Given the description of an element on the screen output the (x, y) to click on. 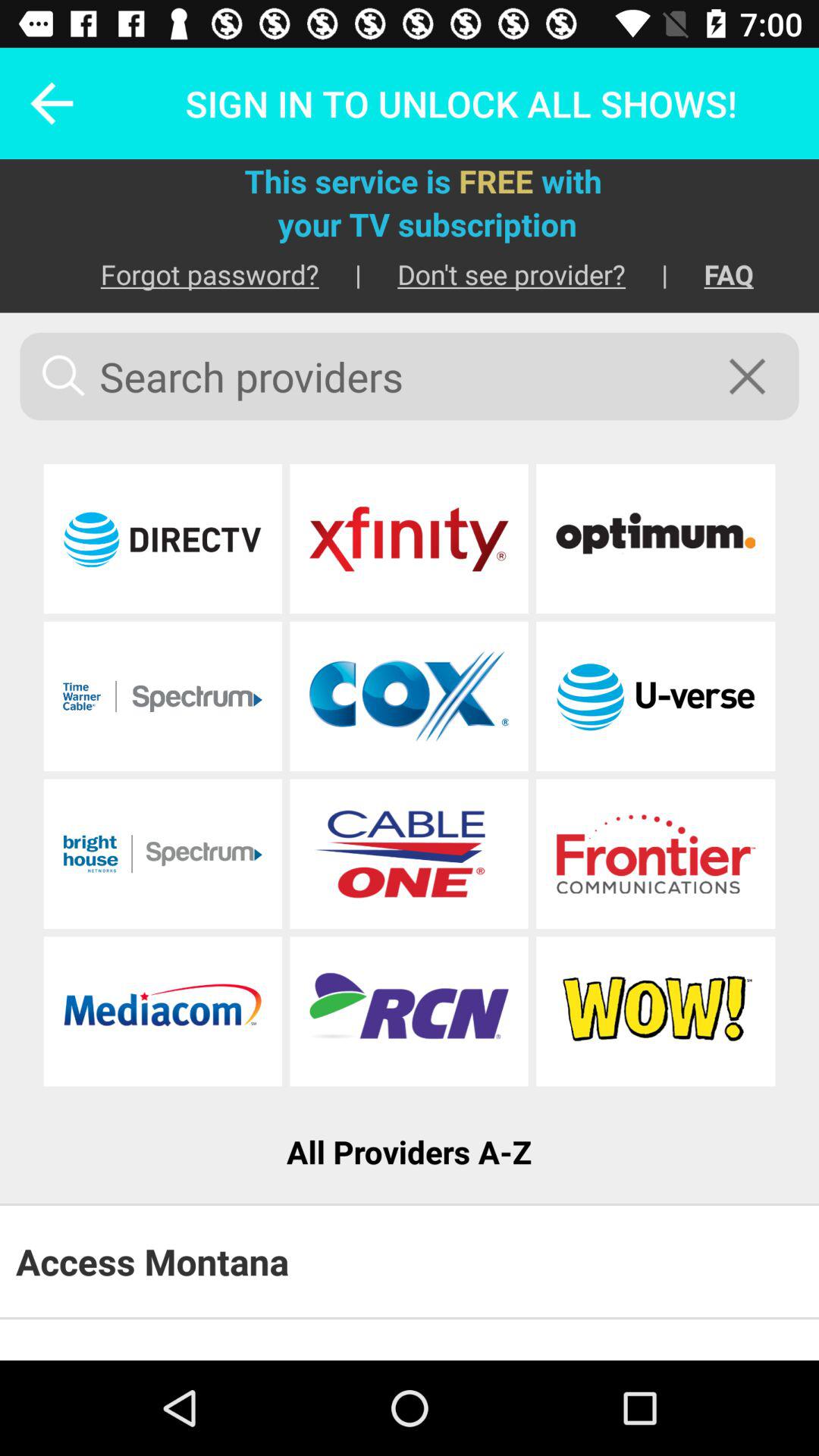
click item next to | icon (191, 273)
